Given the description of an element on the screen output the (x, y) to click on. 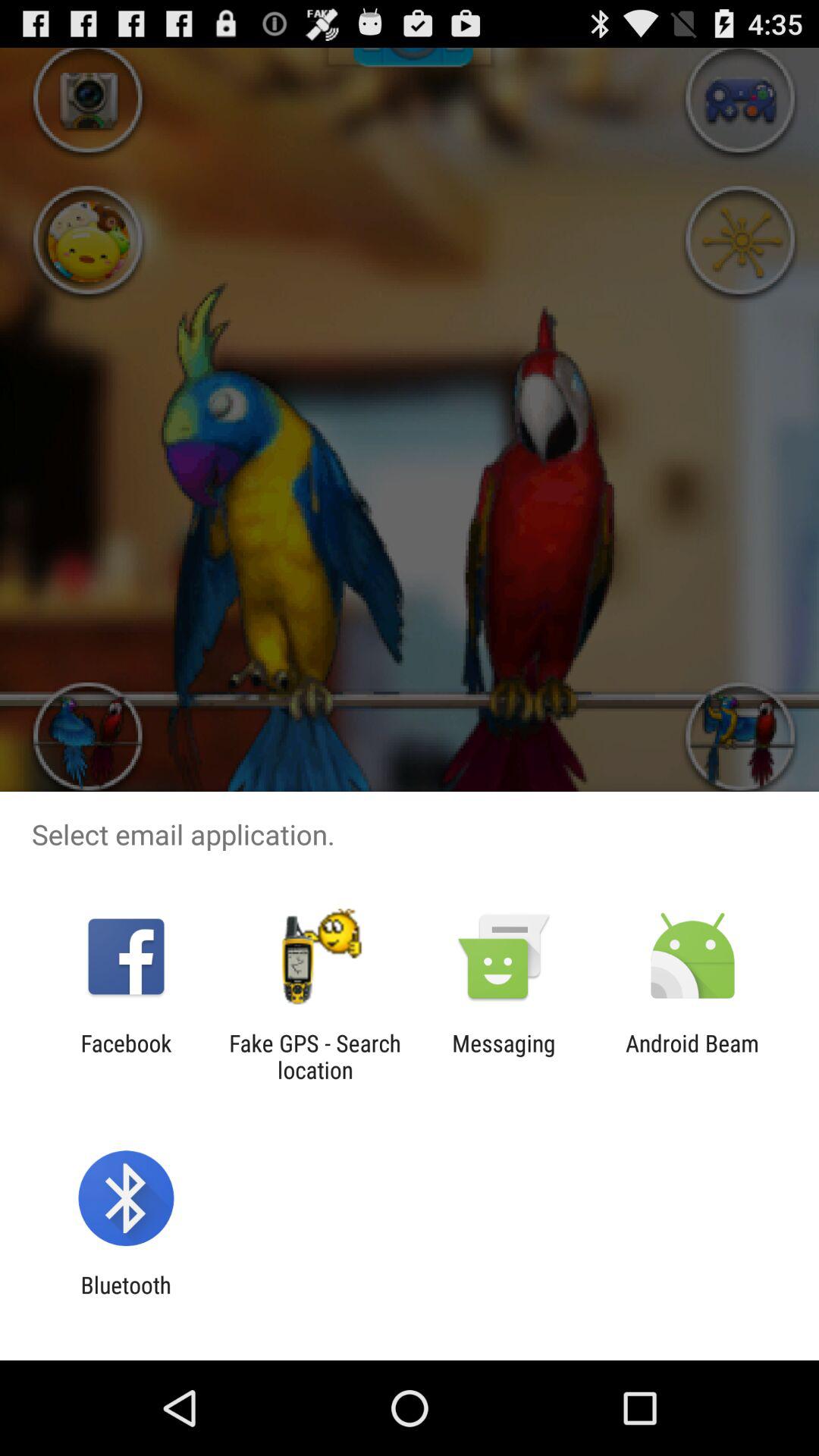
choose the messaging item (503, 1056)
